Given the description of an element on the screen output the (x, y) to click on. 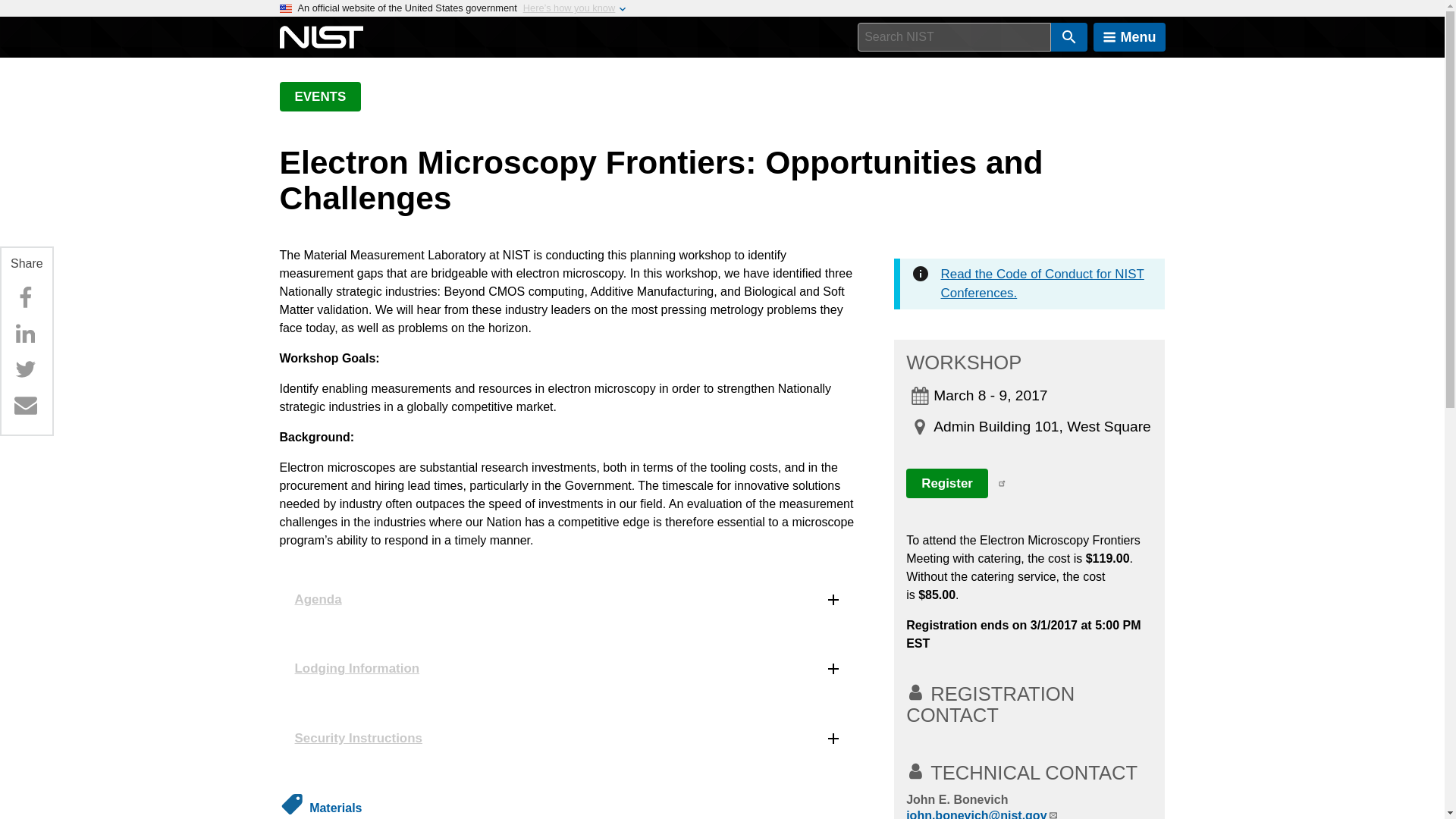
Security Instructions (568, 738)
Linkedin (25, 333)
Agenda (568, 599)
EVENTS (320, 96)
Lodging Information (568, 668)
Menu (1129, 36)
Register (946, 482)
Twitter (25, 368)
Email (25, 404)
John E. Bonevich (956, 799)
National Institute of Standards and Technology (320, 36)
Materials (334, 807)
View staff profile page (956, 799)
Read the Code of Conduct for NIST Conferences. (1041, 283)
